Given the description of an element on the screen output the (x, y) to click on. 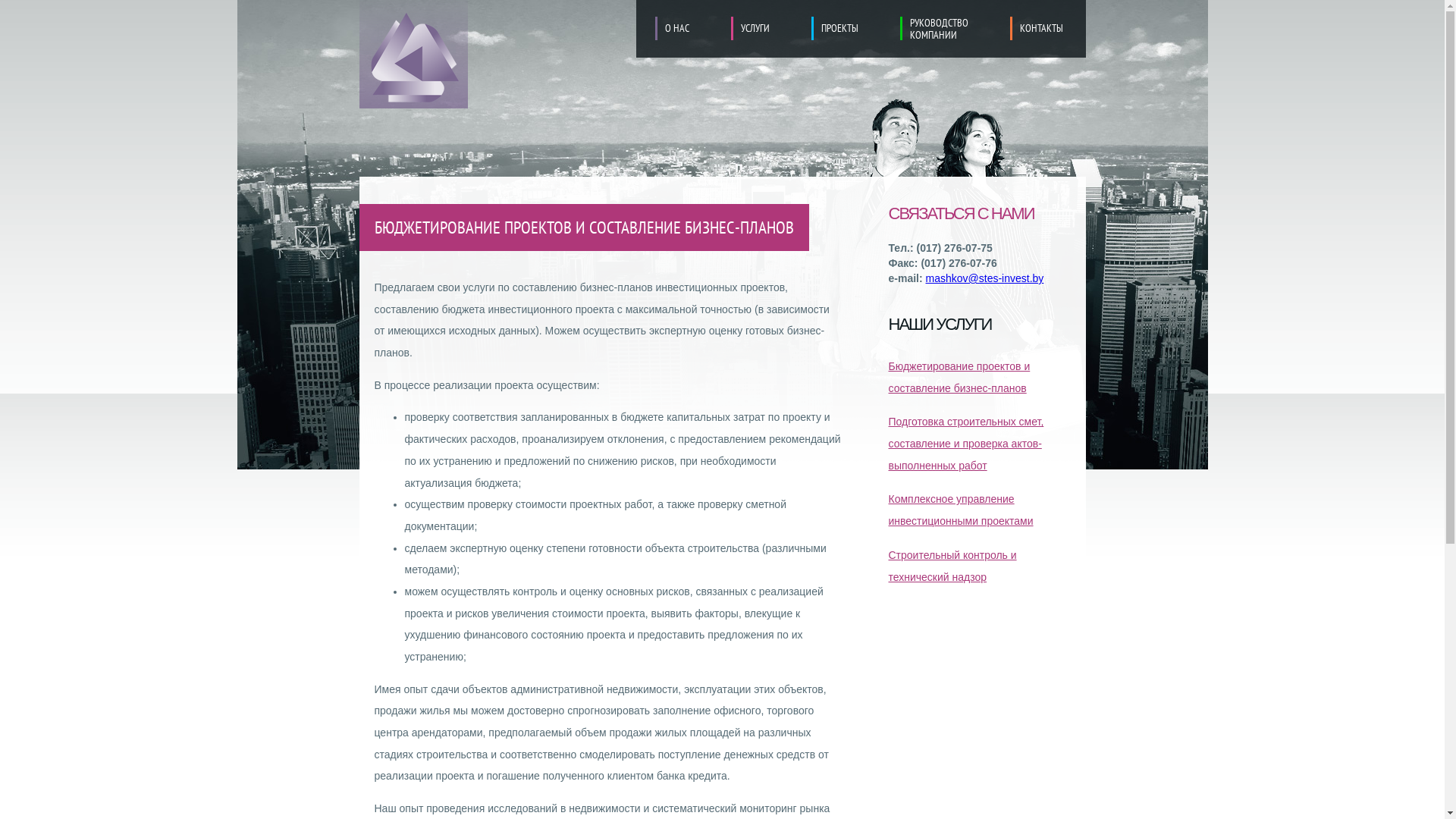
mashkov@stes-invest.by Element type: text (984, 278)
